Given the description of an element on the screen output the (x, y) to click on. 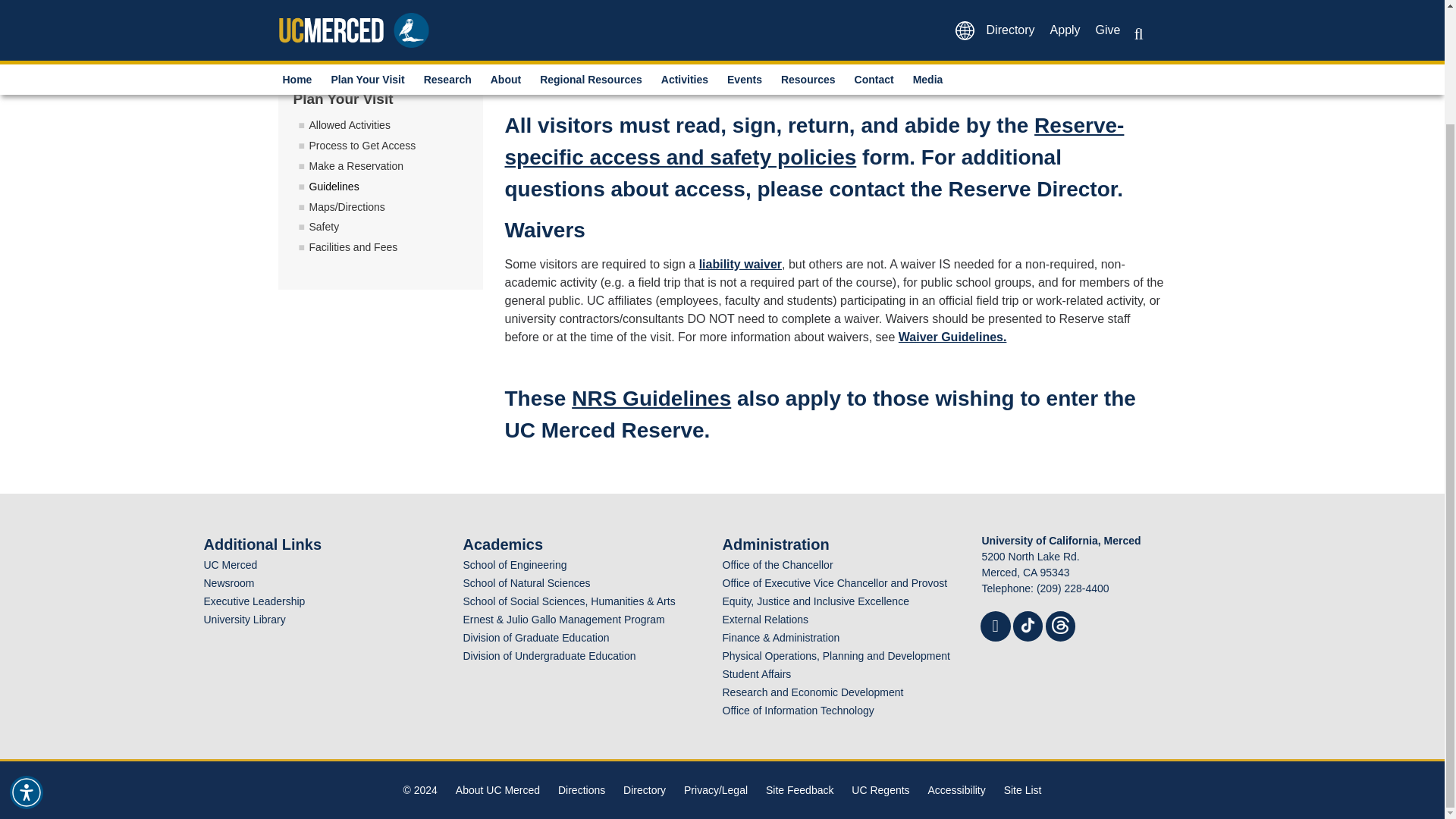
Home (303, 13)
About (510, 13)
UC Merced Leadership (253, 601)
Reserve-specific access and safety policies (814, 140)
NRS Guidelines (651, 398)
Plan Your Visit (372, 13)
UC Merced News (228, 582)
Events (750, 13)
UC Merced Home Page (230, 564)
Regional Resources (596, 13)
liability waiver (739, 264)
Waiver Guidelines (952, 336)
Research (453, 13)
Activities (690, 13)
Accessibility Menu (26, 656)
